Given the description of an element on the screen output the (x, y) to click on. 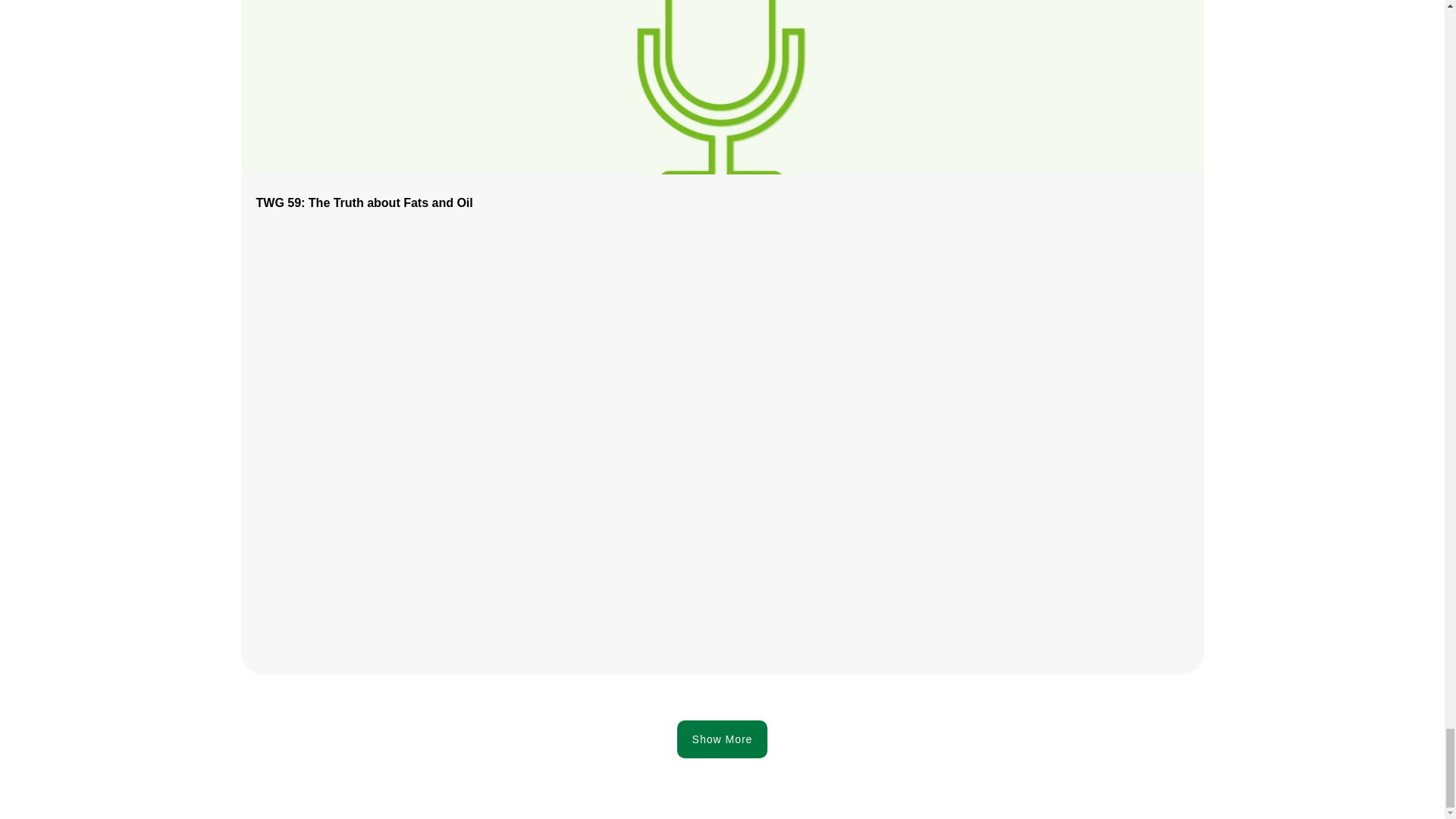
Show More (722, 739)
TWG 59: The Truth about Fats and Oil (364, 202)
